Given the description of an element on the screen output the (x, y) to click on. 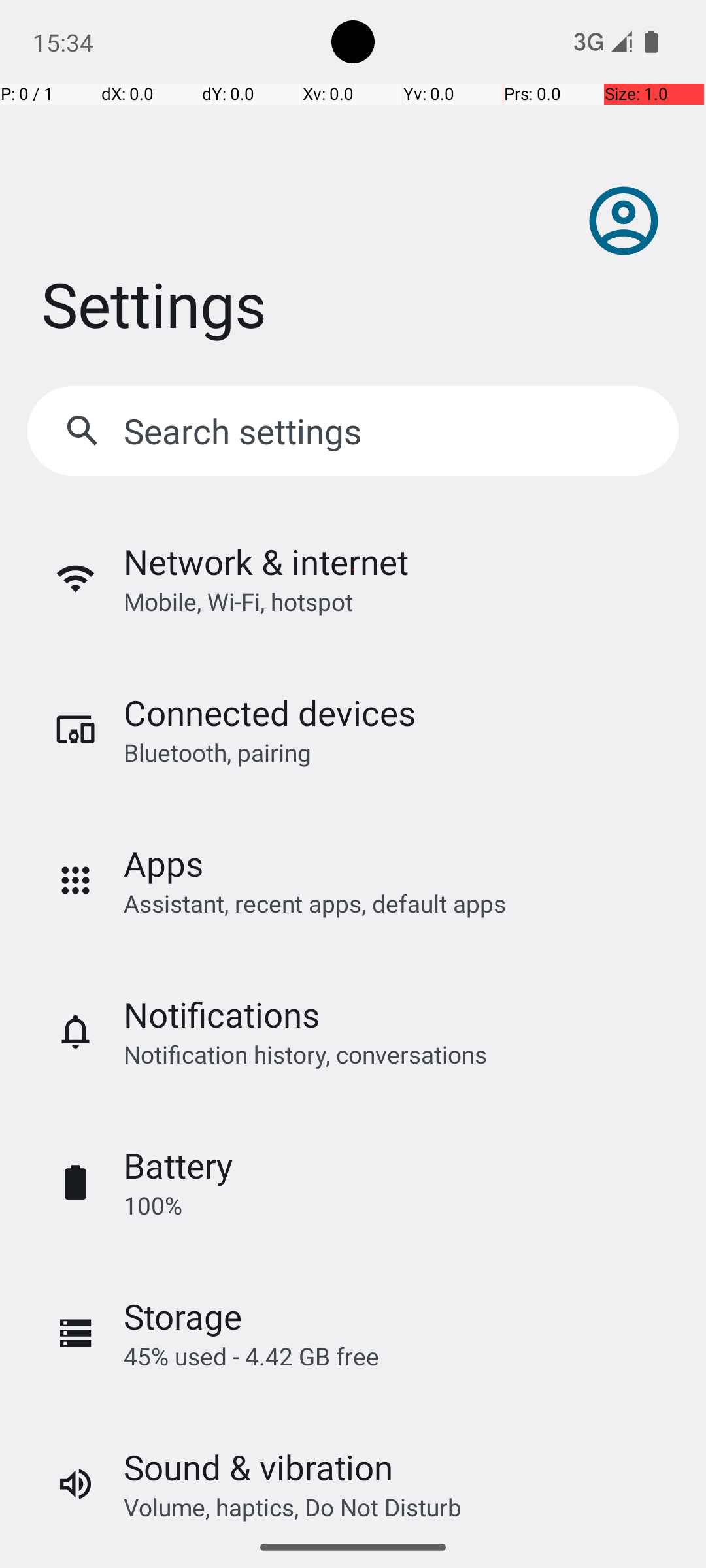
45% used - 4.42 GB free Element type: android.widget.TextView (251, 1355)
